Given the description of an element on the screen output the (x, y) to click on. 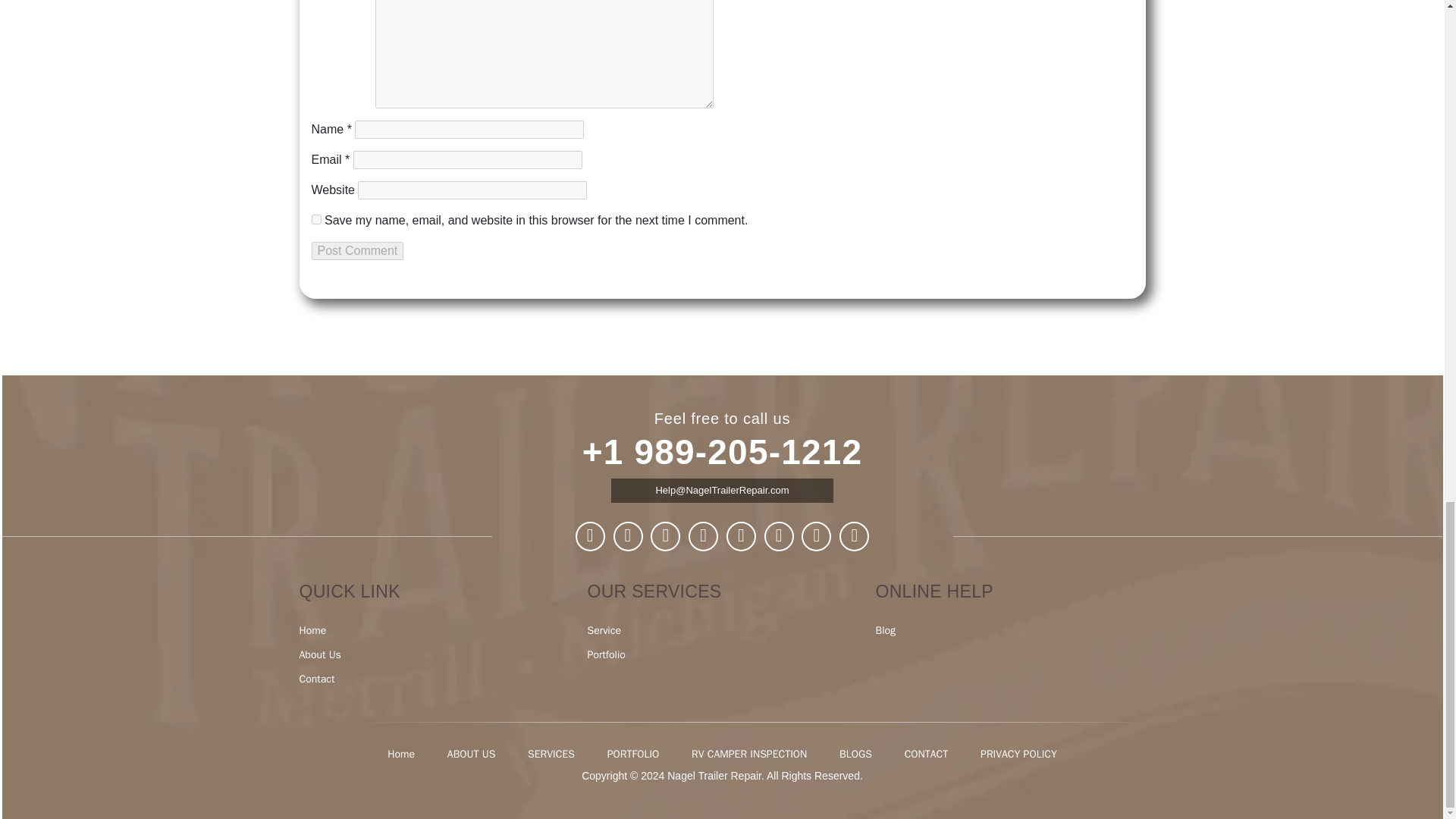
yes (315, 219)
Post Comment (357, 250)
Post Comment (357, 250)
